Given the description of an element on the screen output the (x, y) to click on. 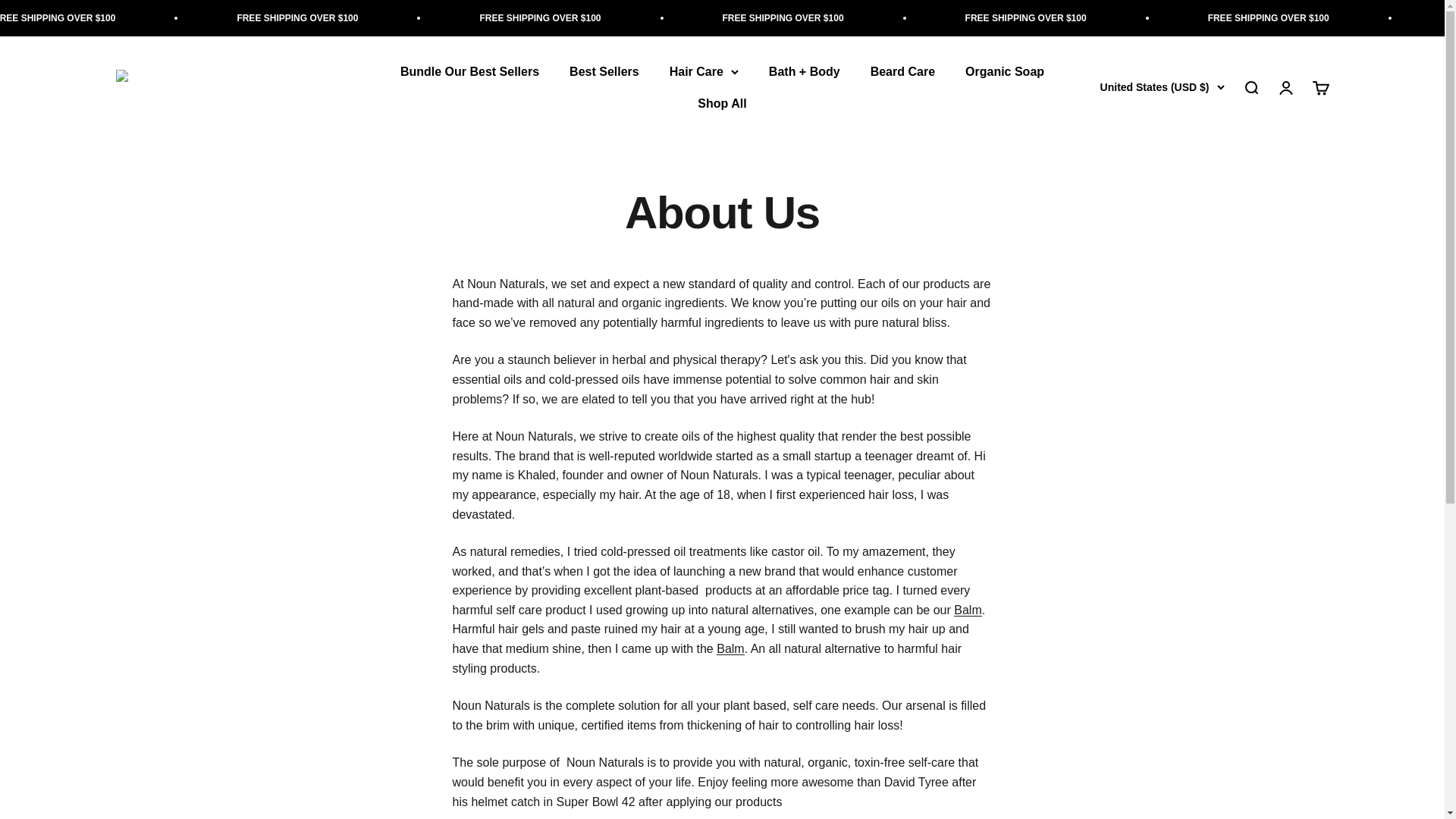
HABIBI BALM (967, 609)
HABIBI BALM HABIBI OIL (730, 648)
Bundle Our Best Sellers (469, 71)
Organic Soap (1004, 71)
Beard Care (902, 71)
Best Sellers (604, 71)
Shop All (721, 103)
Noun Naturals (185, 87)
